Given the description of an element on the screen output the (x, y) to click on. 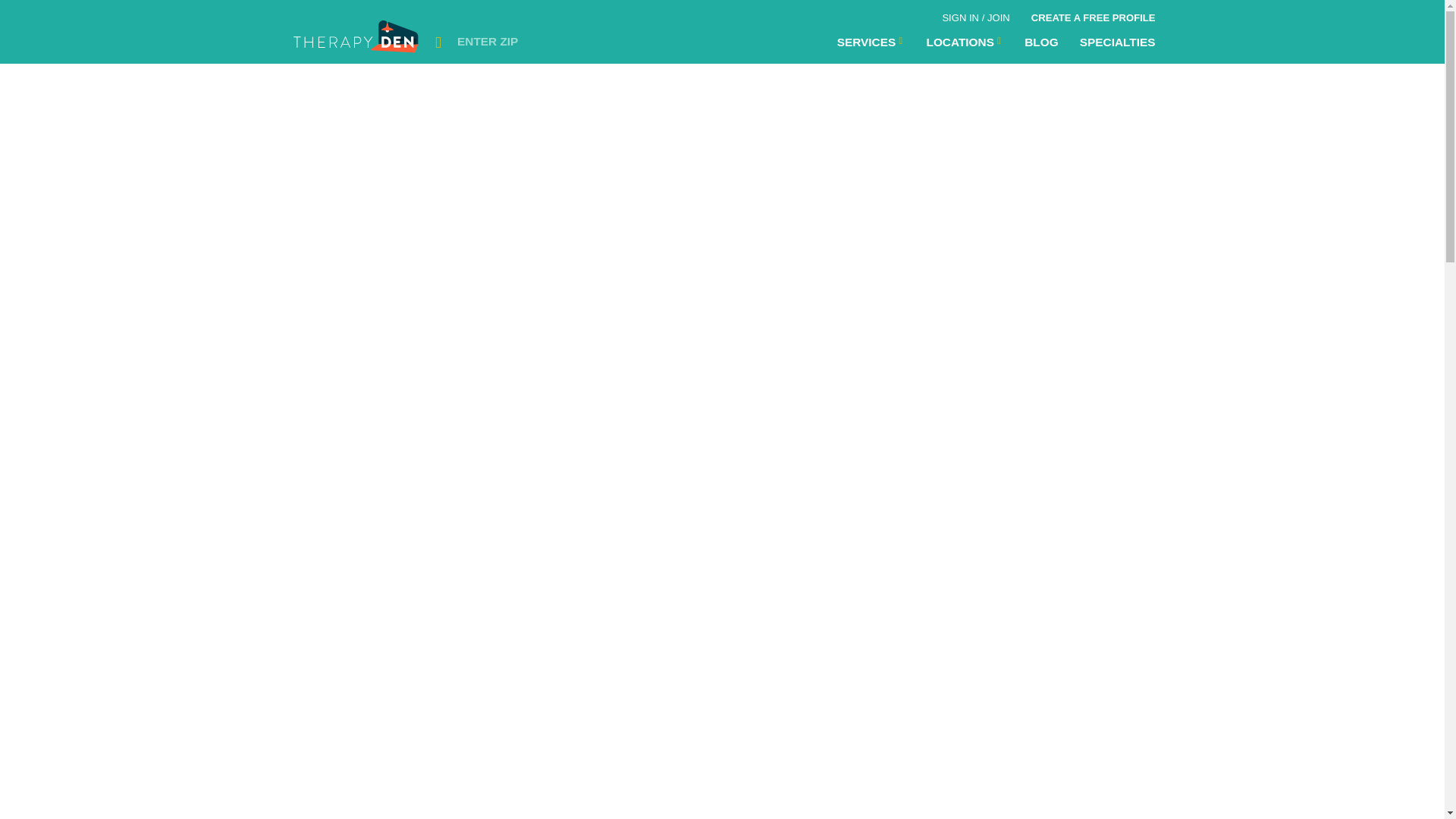
Specialties (1117, 41)
SERVICES (871, 41)
Locations (964, 41)
SPECIALTIES (1117, 41)
Locations (871, 41)
CREATE A FREE PROFILE (1093, 15)
BLOG (1040, 41)
TherapyDen Home (357, 41)
Blog (1040, 41)
LOCATIONS (964, 41)
